Given the description of an element on the screen output the (x, y) to click on. 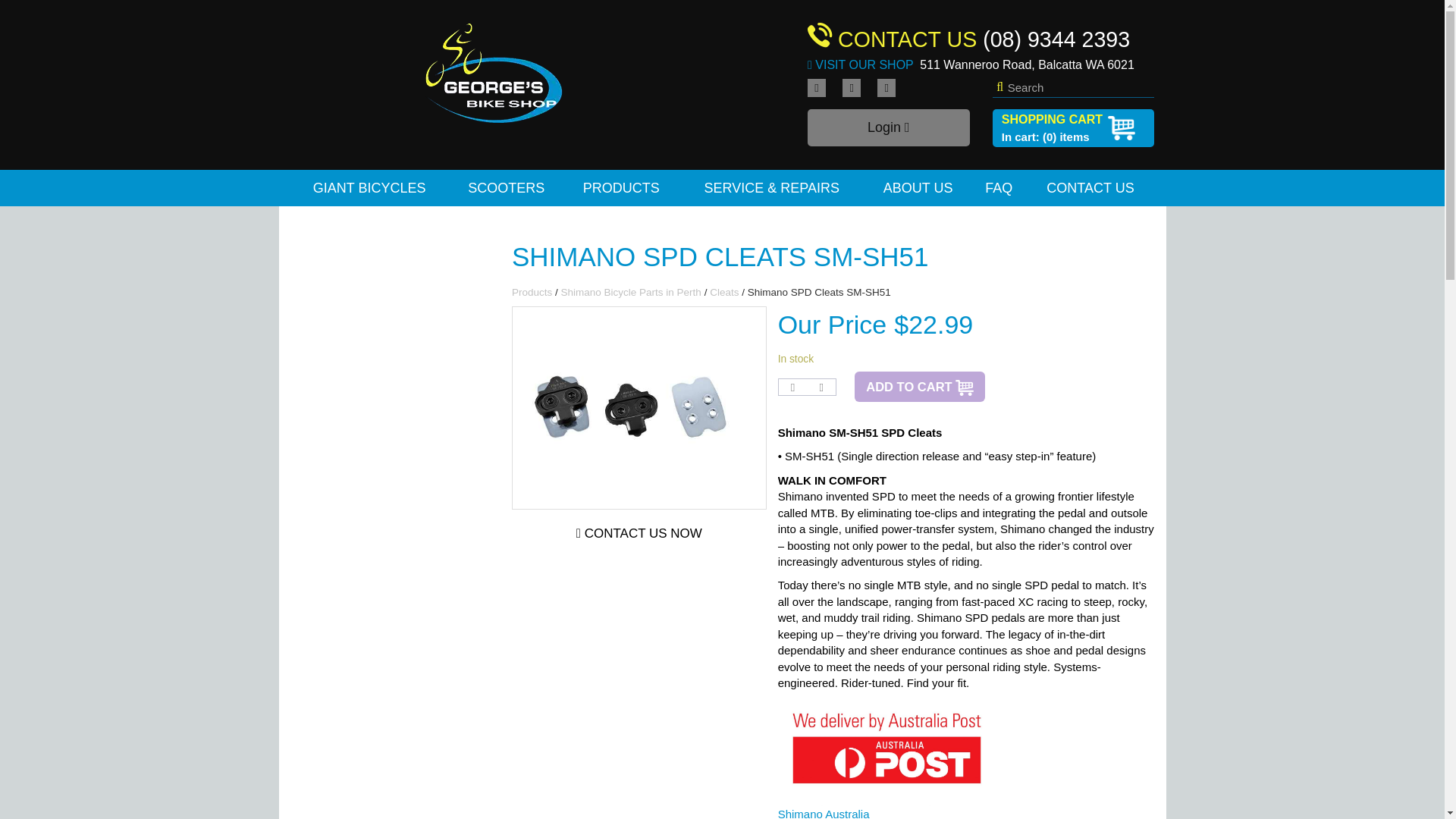
View your shopping cart (1073, 127)
Shimano SPD Cleat Set SM SH51 (639, 408)
Georges Bike Shop Balcatta (493, 72)
Shimano SPD Cleat Set SM SH51 (639, 408)
Search (1073, 87)
Login (888, 127)
GIANT BICYCLES (368, 187)
PRODUCTS (621, 187)
SCOOTERS (506, 187)
